Given the description of an element on the screen output the (x, y) to click on. 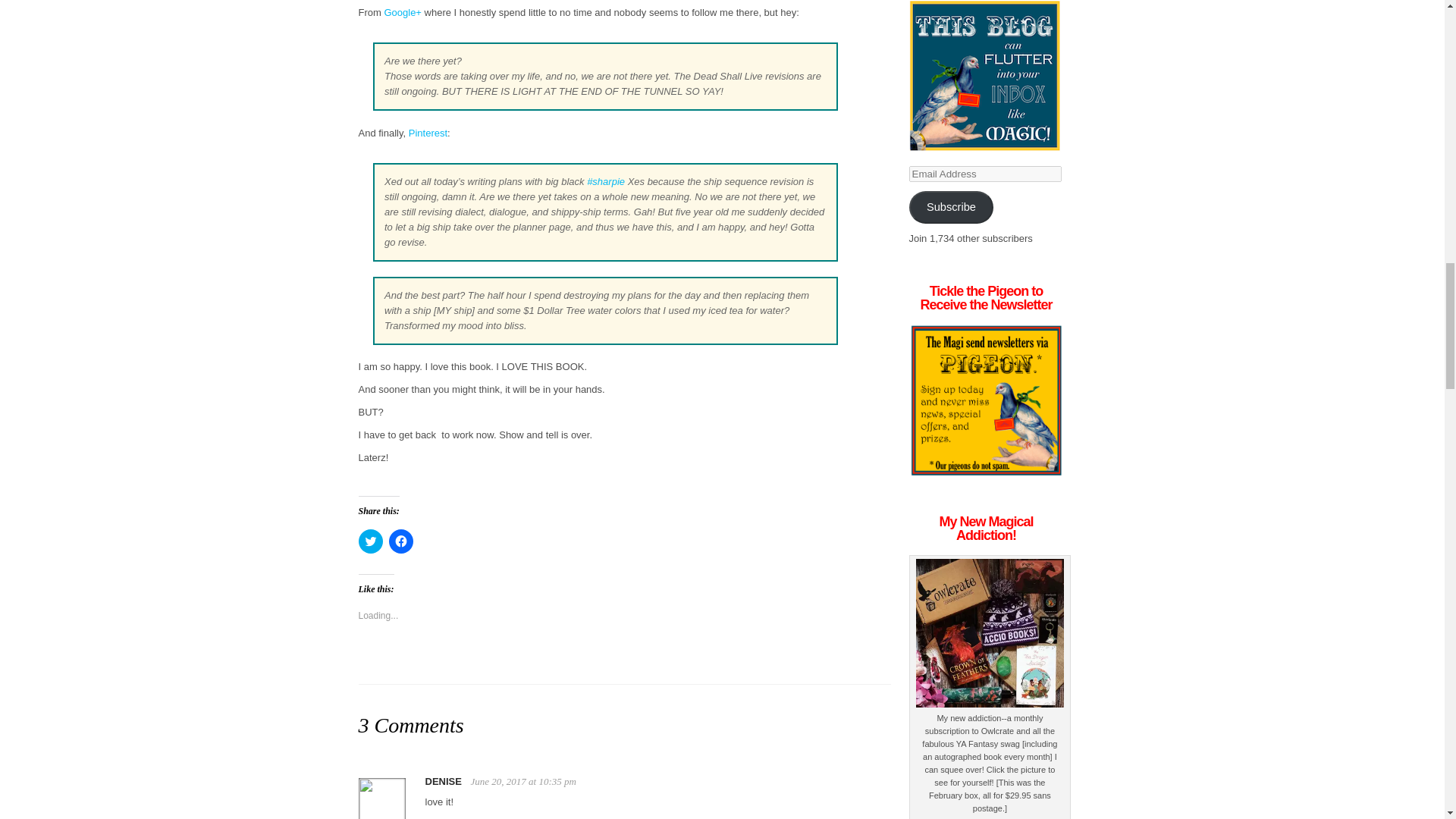
Tickle the Pigeon to Receive the Newsletter (985, 400)
Click to share on Facebook (400, 541)
Click to share on Twitter (369, 541)
